Given the description of an element on the screen output the (x, y) to click on. 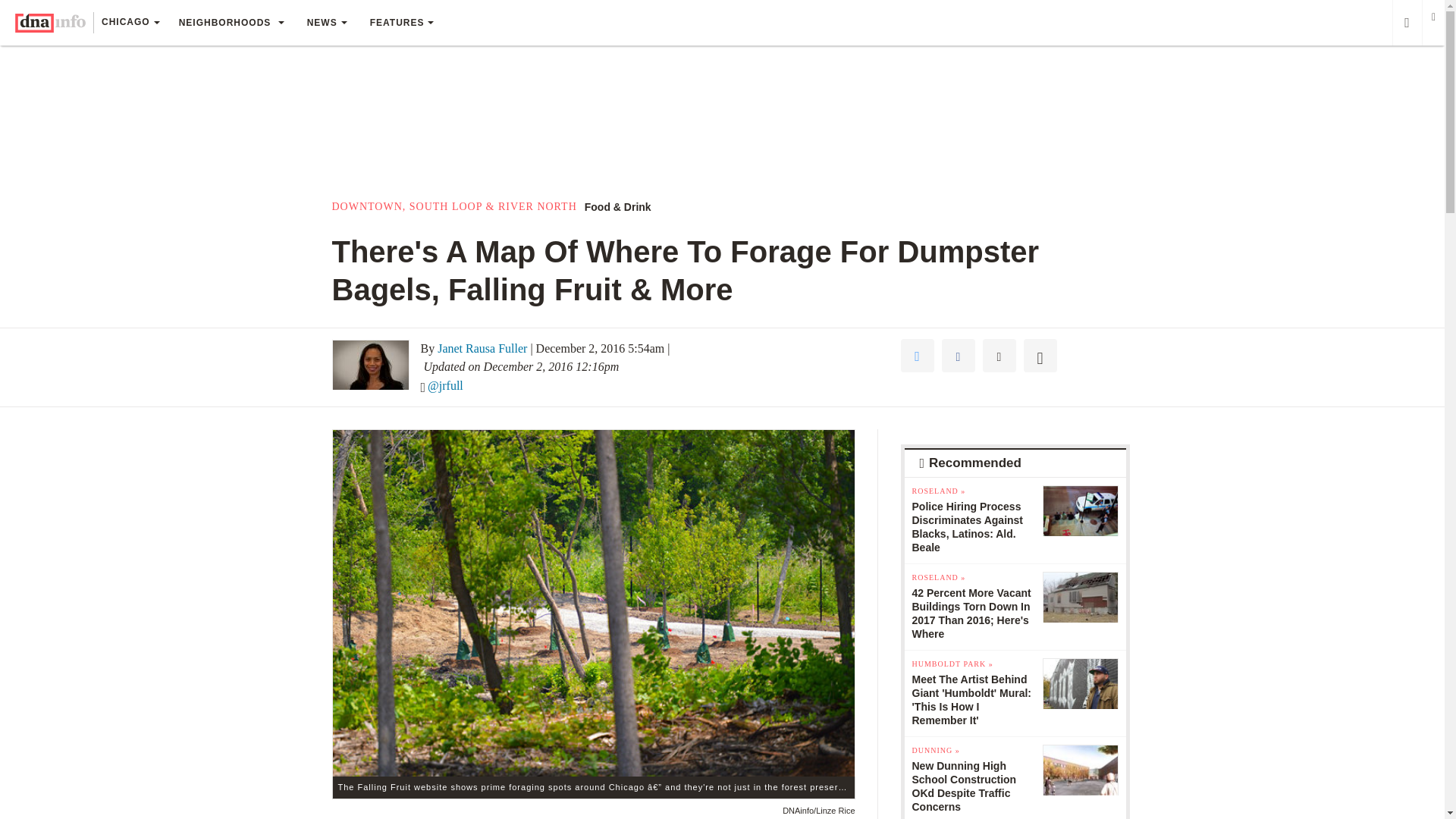
Chicago - Home (49, 22)
CHICAGO (130, 23)
NEWS (326, 22)
FEATURES (401, 22)
NEIGHBORHOODS (231, 22)
